Given the description of an element on the screen output the (x, y) to click on. 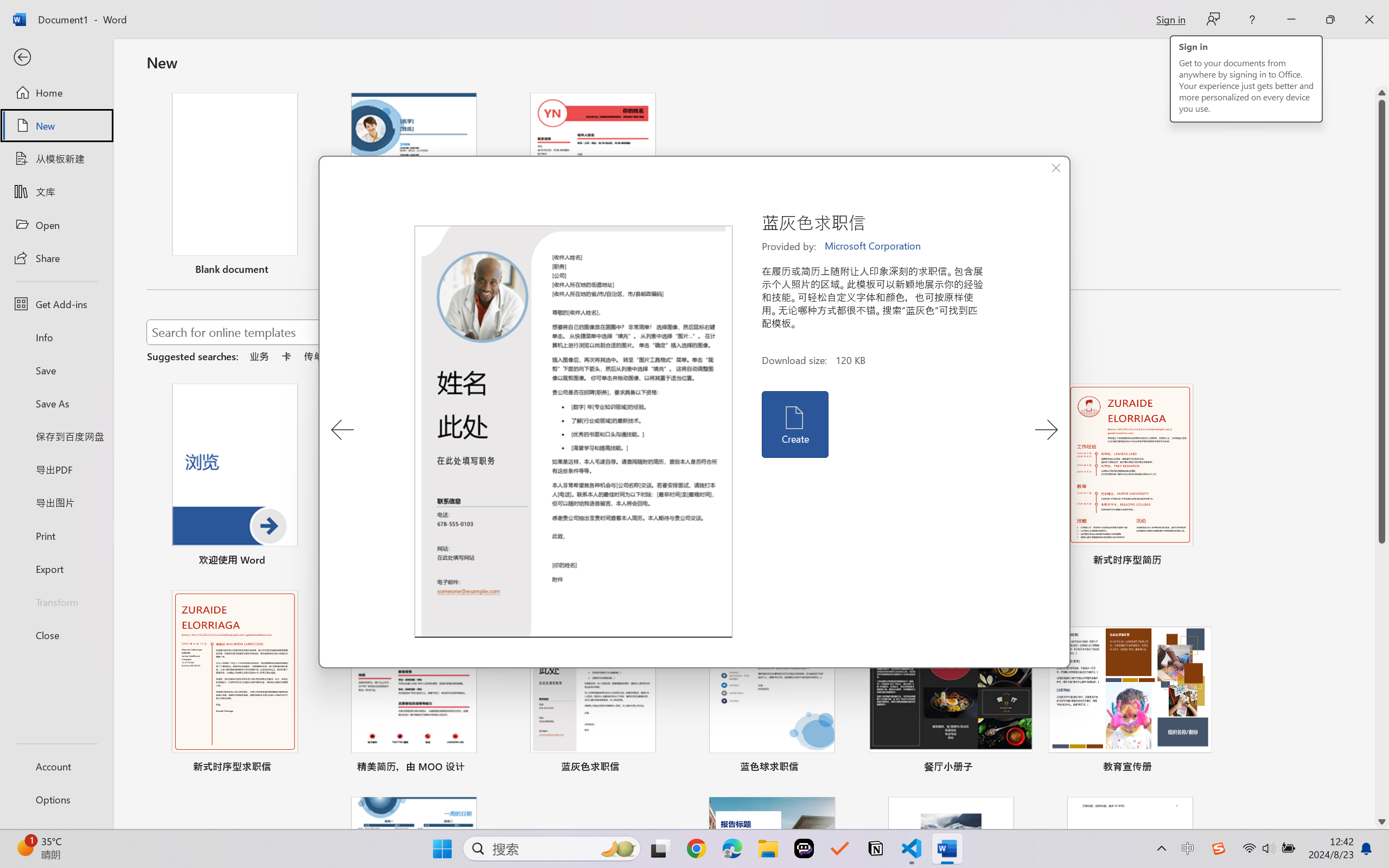
Print (56, 535)
Transform (56, 601)
Preview (573, 431)
Get Add-ins (56, 303)
Back (56, 57)
